Given the description of an element on the screen output the (x, y) to click on. 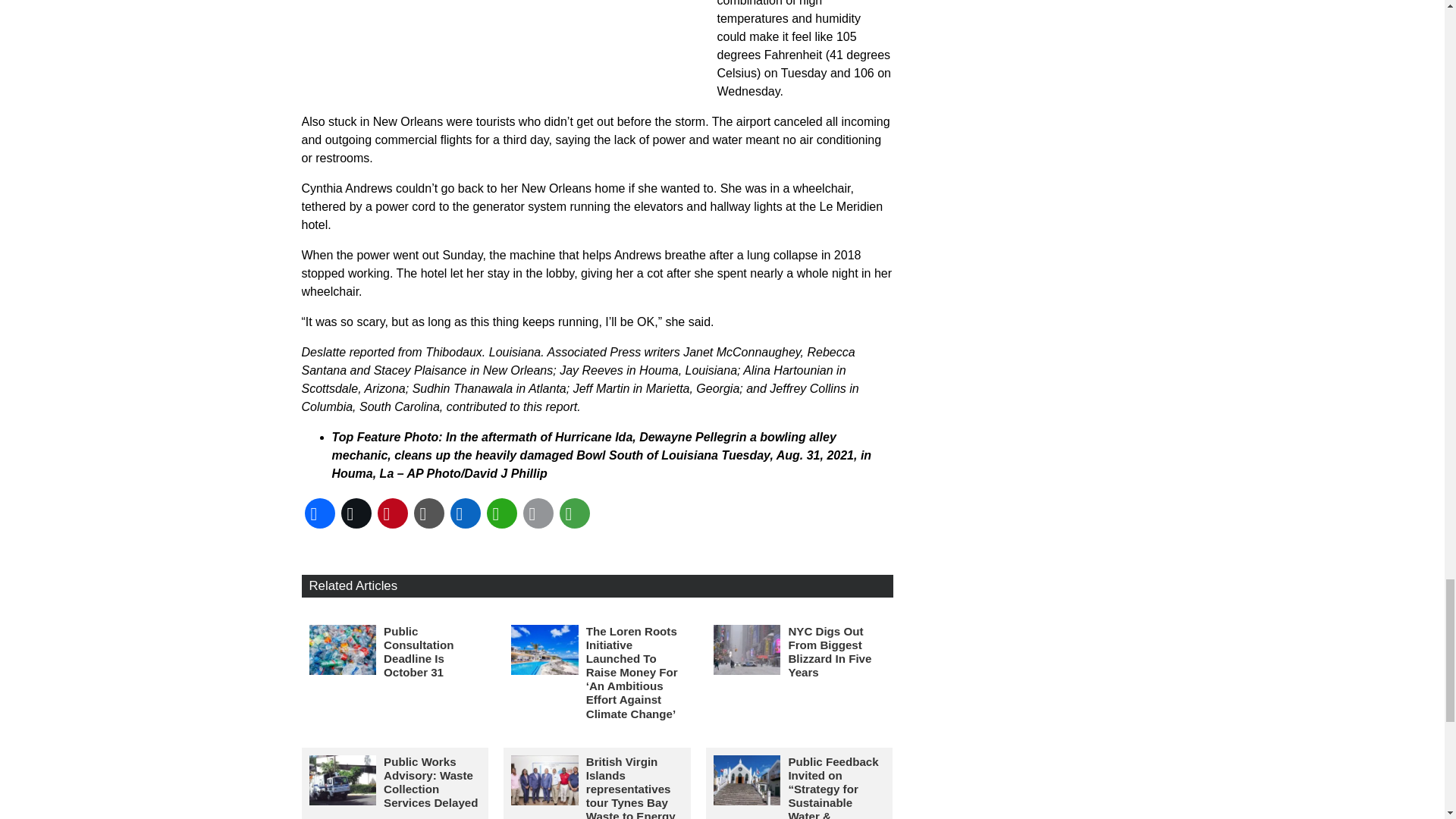
Public Consultation Deadline Is October 31 (418, 651)
Email This (537, 513)
NYC Digs Out From Biggest Blizzard In Five Years (746, 649)
Public Works Advisory: Waste Collection Services Delayed (342, 780)
LinkedIn (464, 513)
Copy Link (428, 513)
Facebook (319, 513)
Public Works Advisory: Waste Collection Services Delayed (430, 782)
More Options (574, 513)
